Given the description of an element on the screen output the (x, y) to click on. 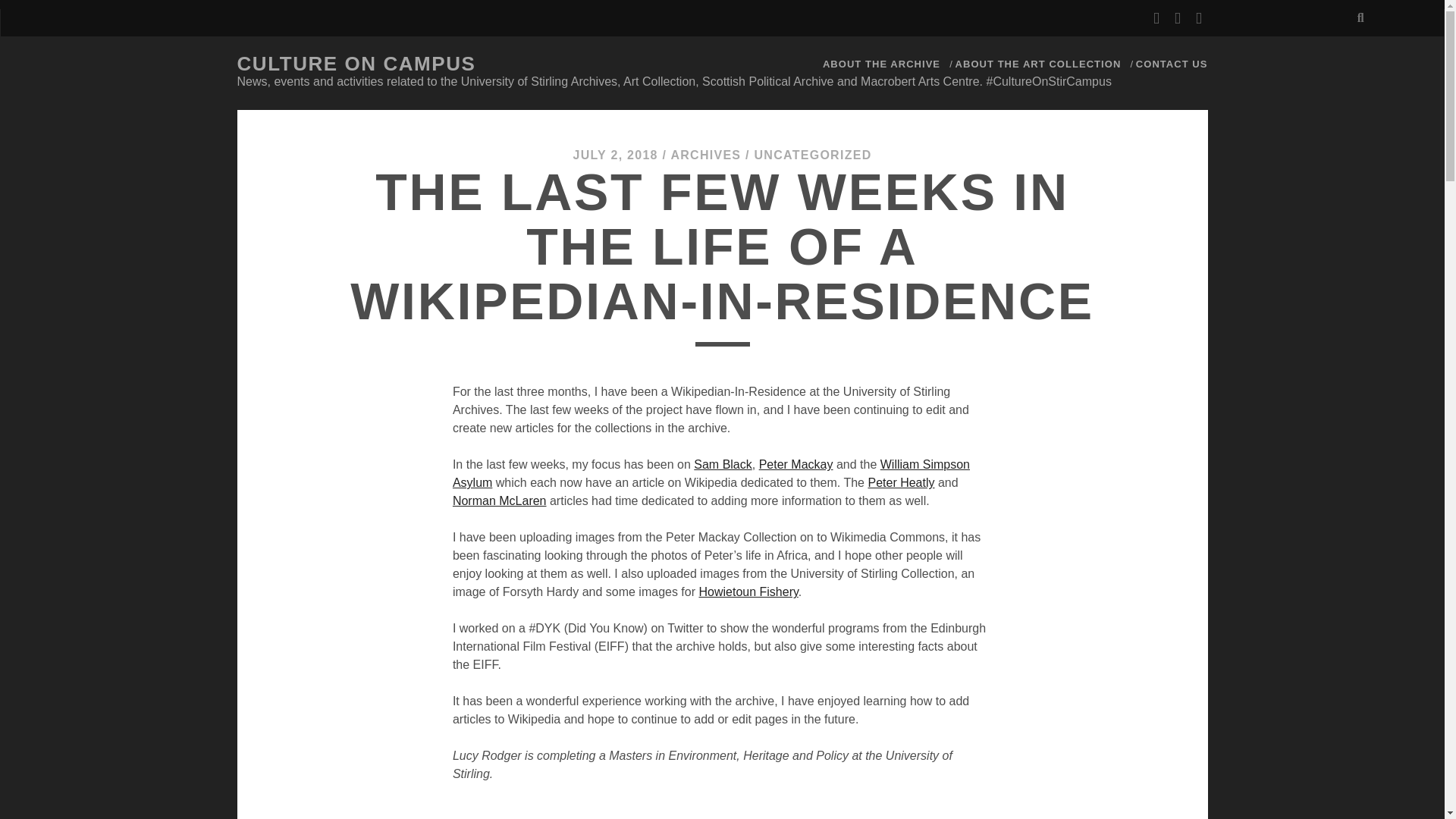
CONTACT US (1171, 64)
ARCHIVES (705, 154)
William Simpson Asylum (710, 472)
Peter Mackay (795, 463)
Peter Heatly (900, 481)
CULTURE ON CAMPUS (355, 63)
Sam Black (722, 463)
UNCATEGORIZED (813, 154)
Norman McLaren (499, 500)
Howietoun Fishery (747, 591)
ABOUT THE ART COLLECTION (1038, 64)
Posts by archives (705, 154)
ABOUT THE ARCHIVE (881, 64)
